Given the description of an element on the screen output the (x, y) to click on. 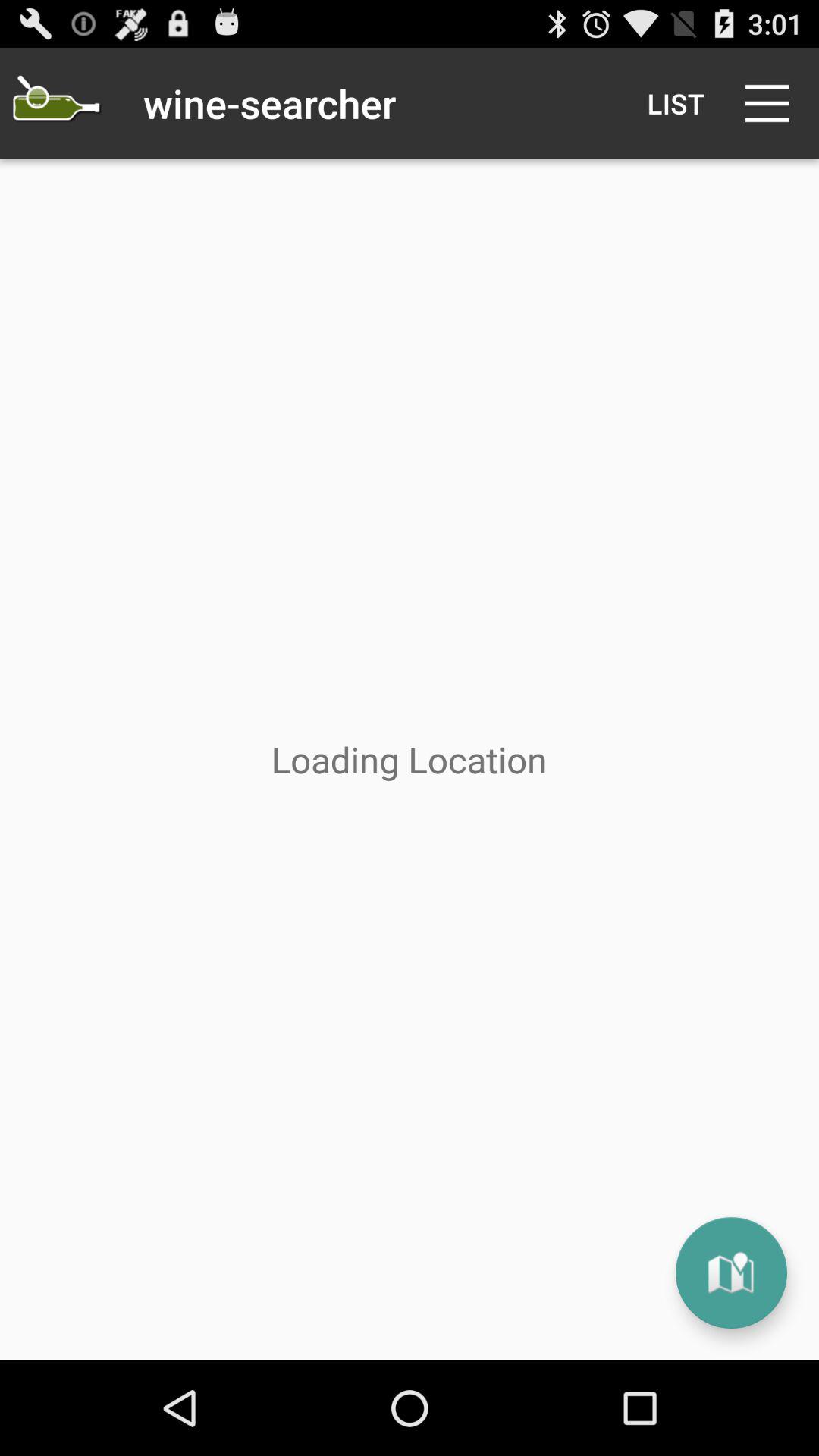
select the icon below list icon (731, 1272)
